Given the description of an element on the screen output the (x, y) to click on. 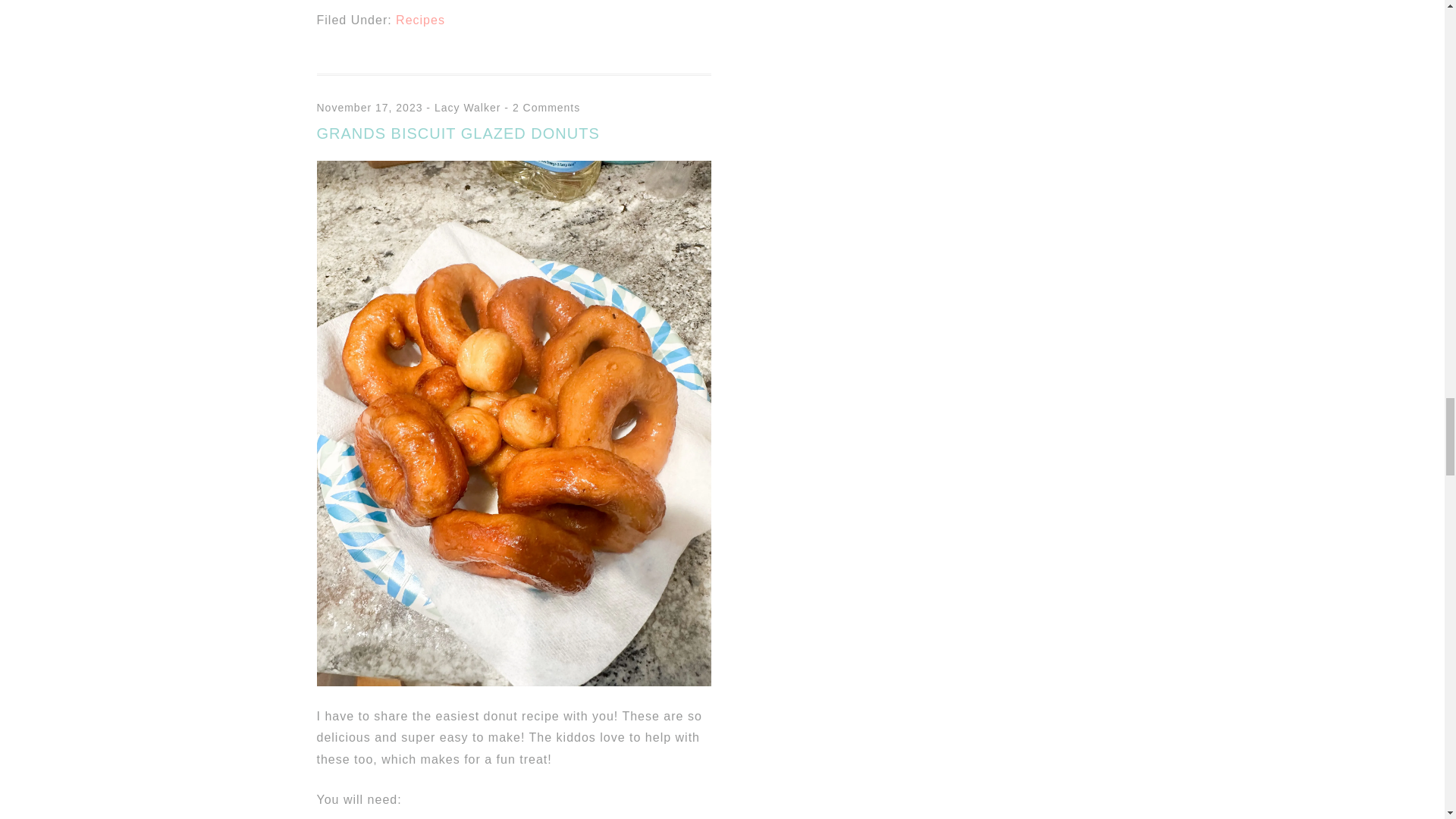
Recipes (420, 19)
Lacy Walker (466, 107)
November 17, 2023 (370, 107)
GRANDS BISCUIT GLAZED DONUTS (458, 133)
Grands Biscuit Glazed Donuts (514, 681)
2 Comments (545, 107)
